Given the description of an element on the screen output the (x, y) to click on. 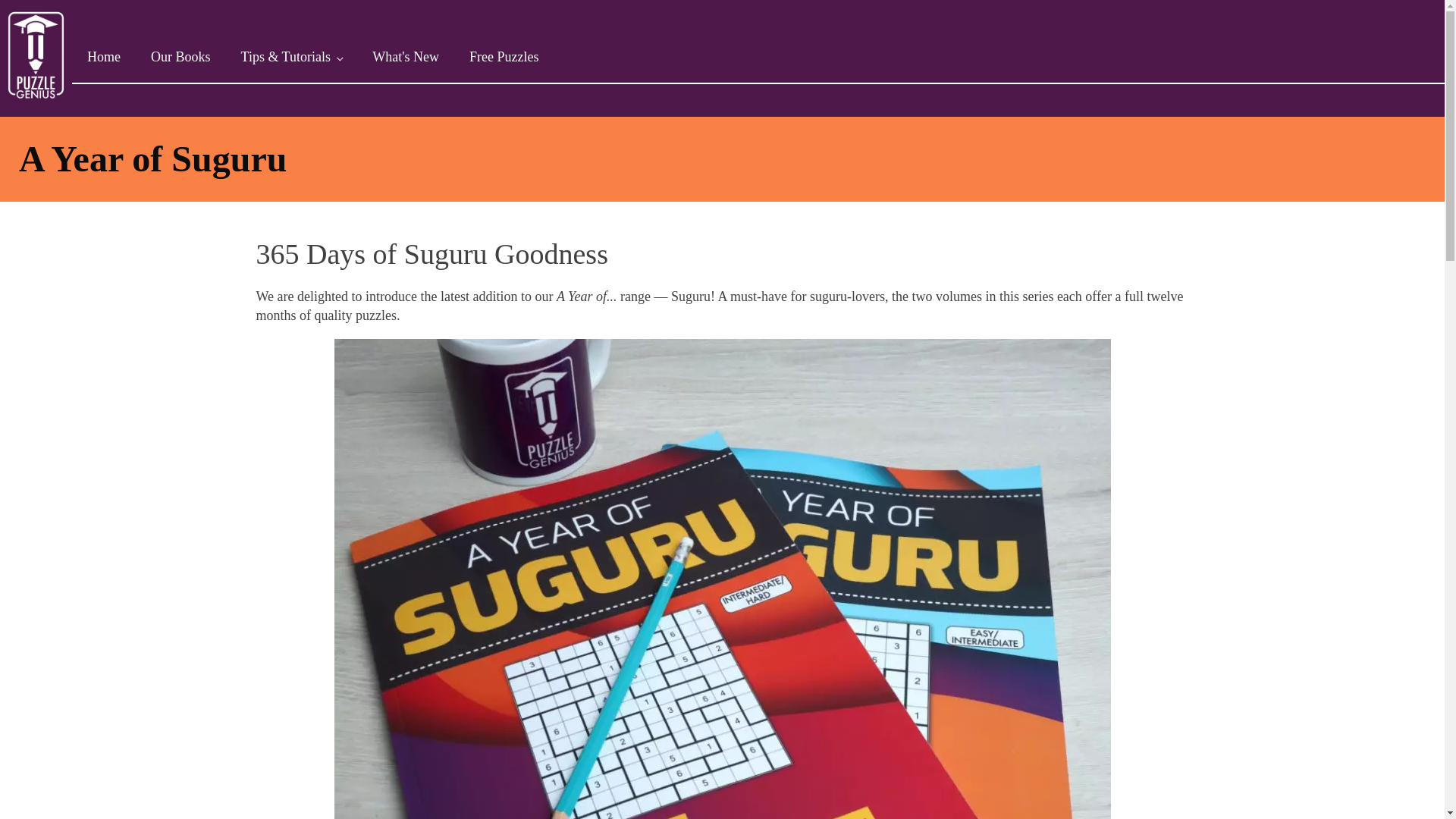
What's New (405, 56)
Free Puzzles (503, 56)
Home (103, 56)
Our Books (180, 56)
